Given the description of an element on the screen output the (x, y) to click on. 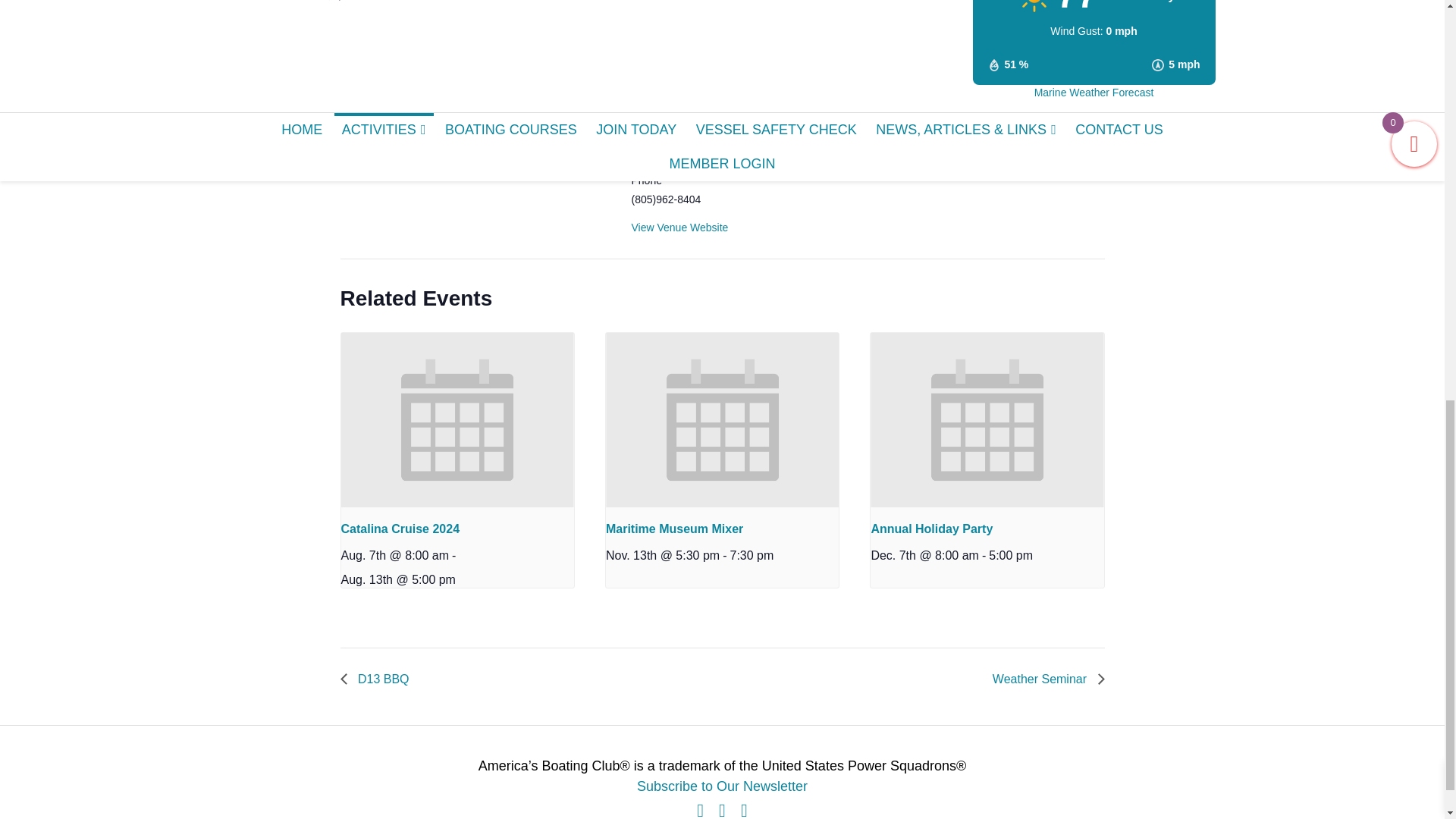
2021-11-17 (403, 122)
2021-11-17 (371, 73)
Twitter (722, 807)
California (713, 110)
Facebook (699, 807)
Click to view a Google Map (685, 140)
TBD (495, 53)
